Given the description of an element on the screen output the (x, y) to click on. 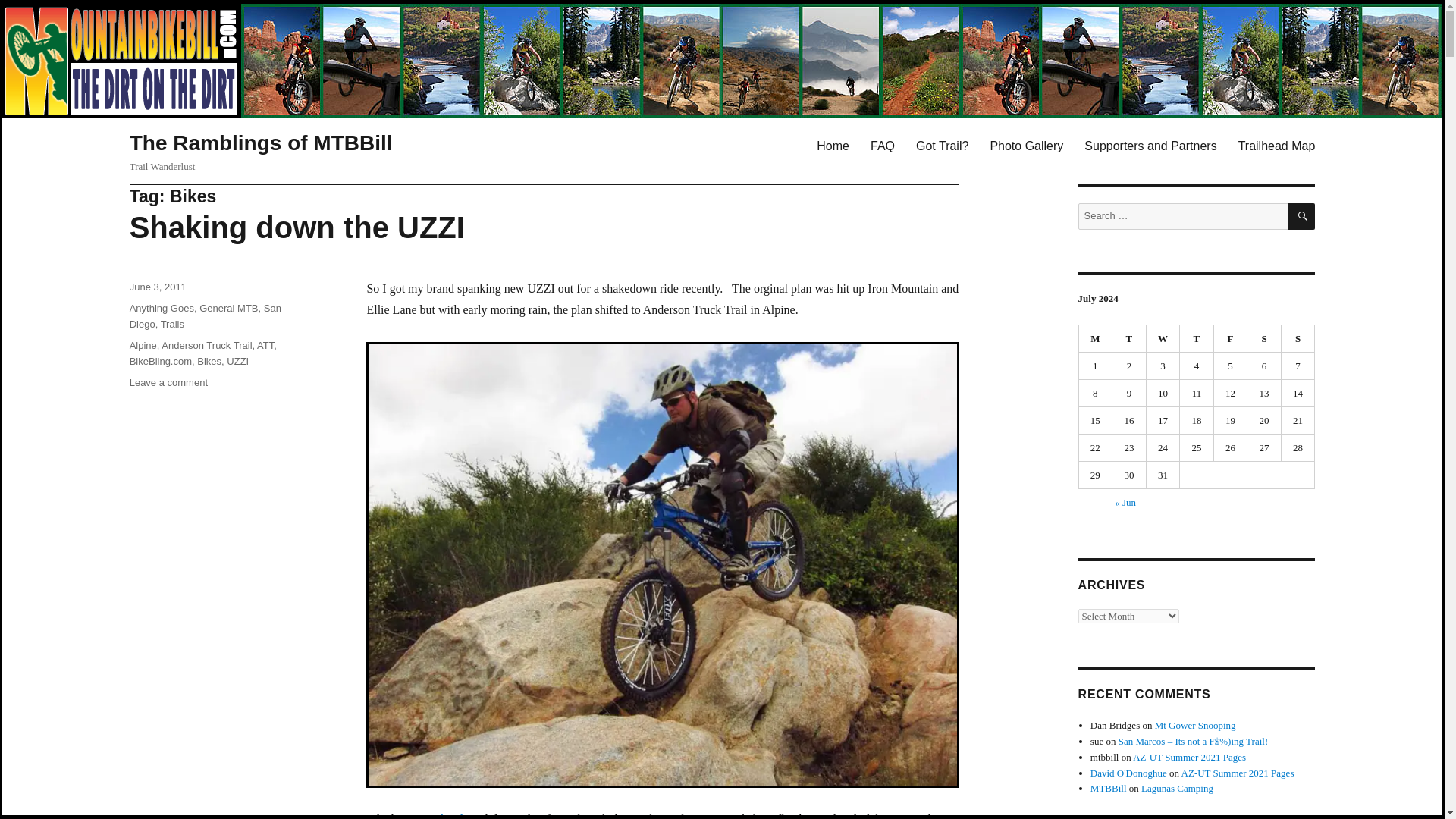
Alpine (143, 345)
Home (833, 145)
BikeBling.com (160, 360)
June 3, 2011 (157, 286)
BikeBling (454, 816)
Bikes (208, 360)
General MTB (228, 307)
Supporters and Partners (1150, 145)
The Ramblings of MTBBill (261, 142)
FAQ (882, 145)
Photo Gallery (1026, 145)
ATT (265, 345)
Sunday (1298, 338)
Monday (1095, 338)
Anything Goes (161, 307)
